Given the description of an element on the screen output the (x, y) to click on. 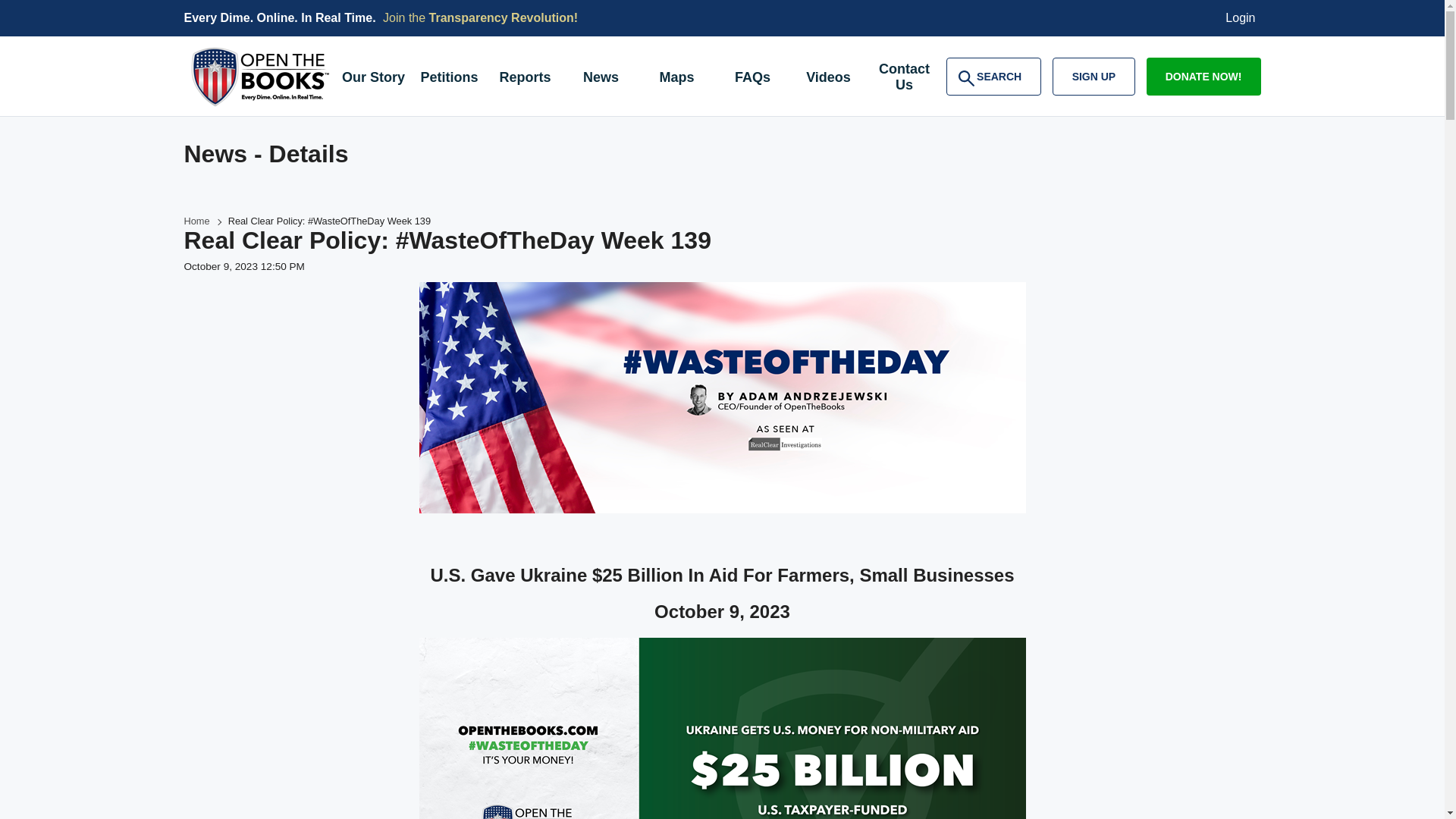
DONATE NOW! (1203, 76)
Transparency Revolution! (503, 17)
News (600, 78)
Reports (524, 78)
Videos (828, 78)
FAQs (752, 78)
Login (1240, 18)
Home (196, 220)
Maps (676, 78)
Our Story (372, 78)
SIGN UP (993, 76)
Petitions (1093, 76)
Contact Us (448, 78)
